Given the description of an element on the screen output the (x, y) to click on. 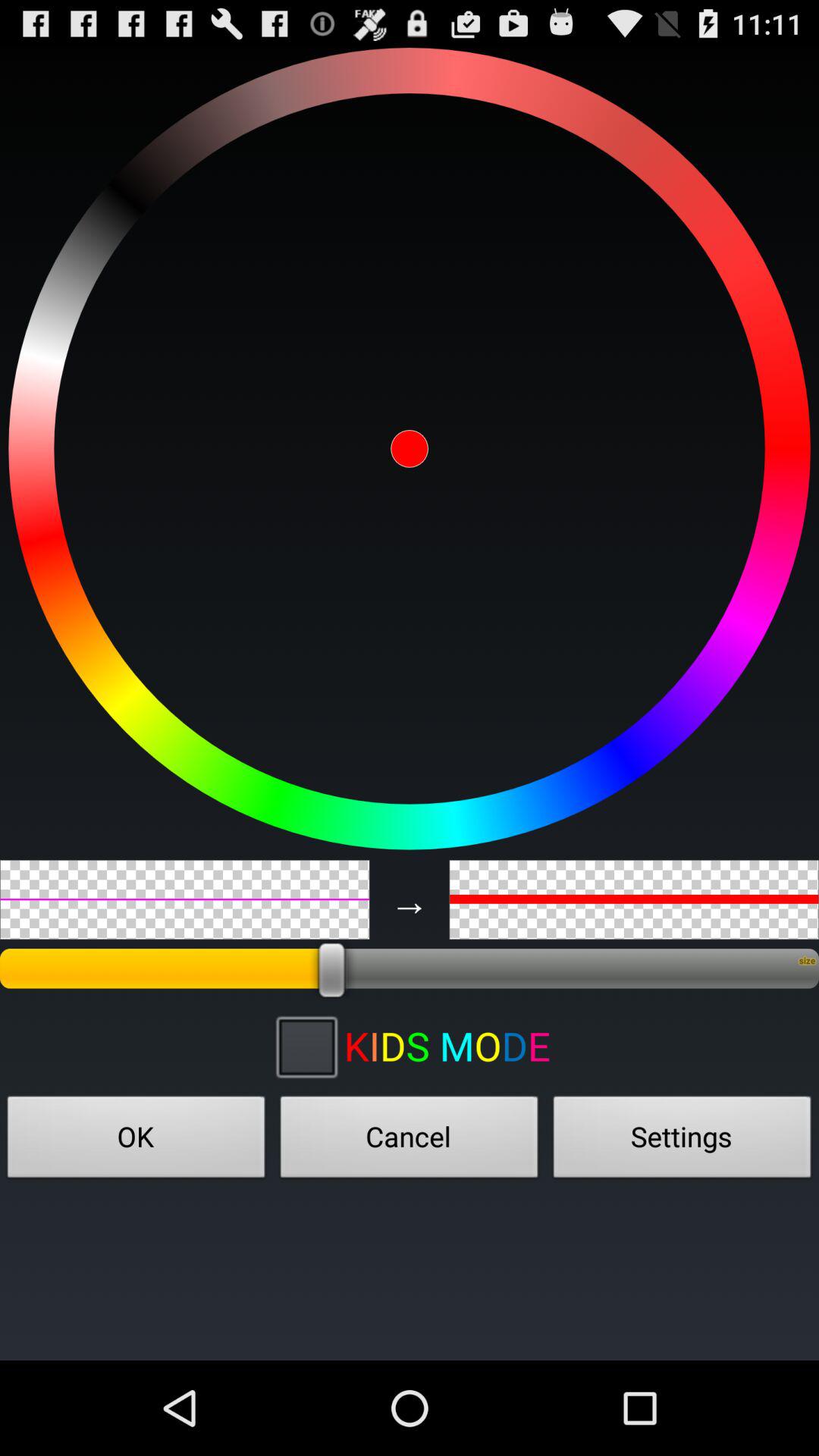
turn off the item next to the settings (409, 1141)
